Given the description of an element on the screen output the (x, y) to click on. 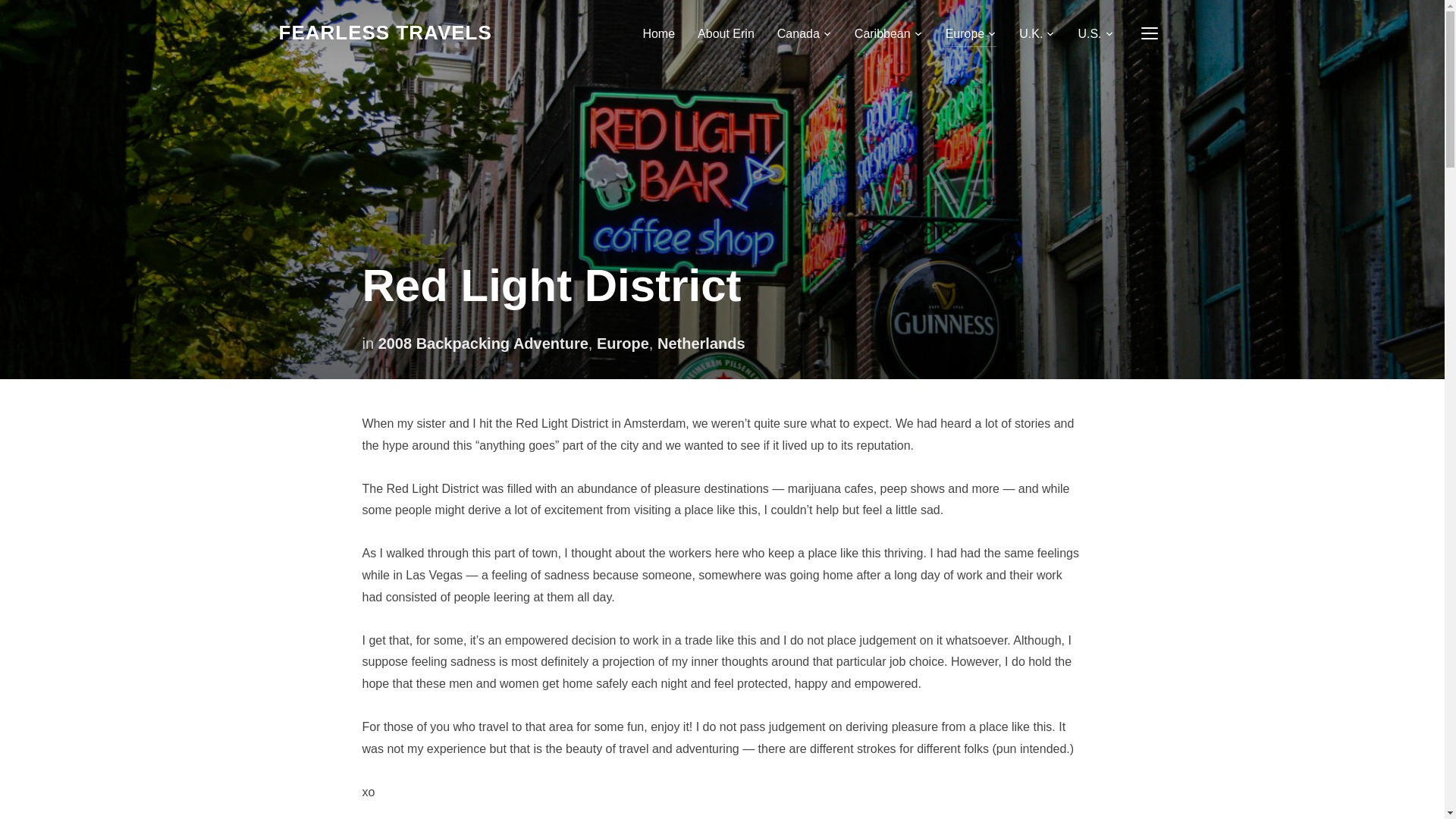
Home (658, 32)
Just Boldly Go (385, 32)
FEARLESS TRAVELS (385, 32)
